Given the description of an element on the screen output the (x, y) to click on. 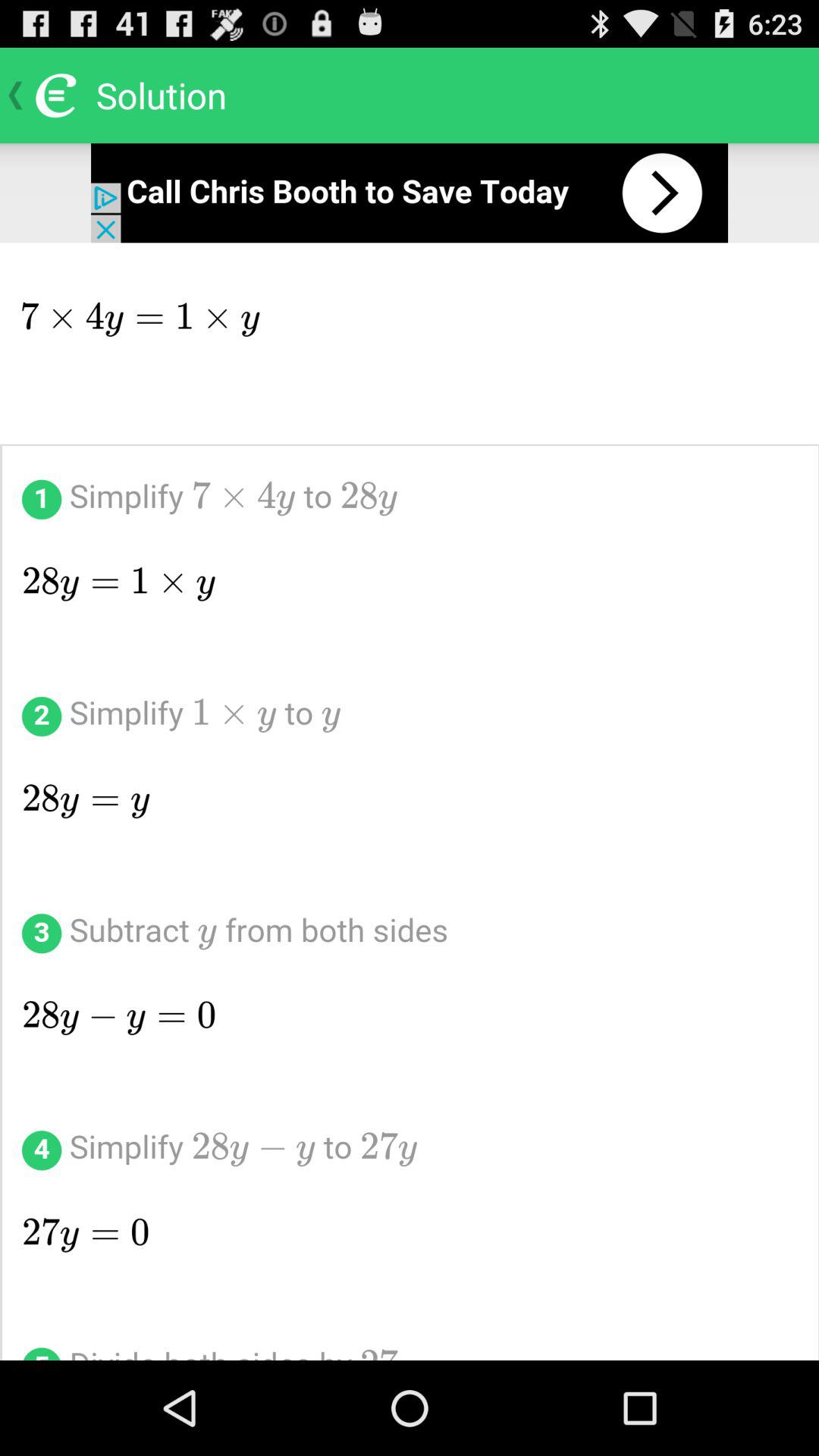
advertisement (409, 192)
